Given the description of an element on the screen output the (x, y) to click on. 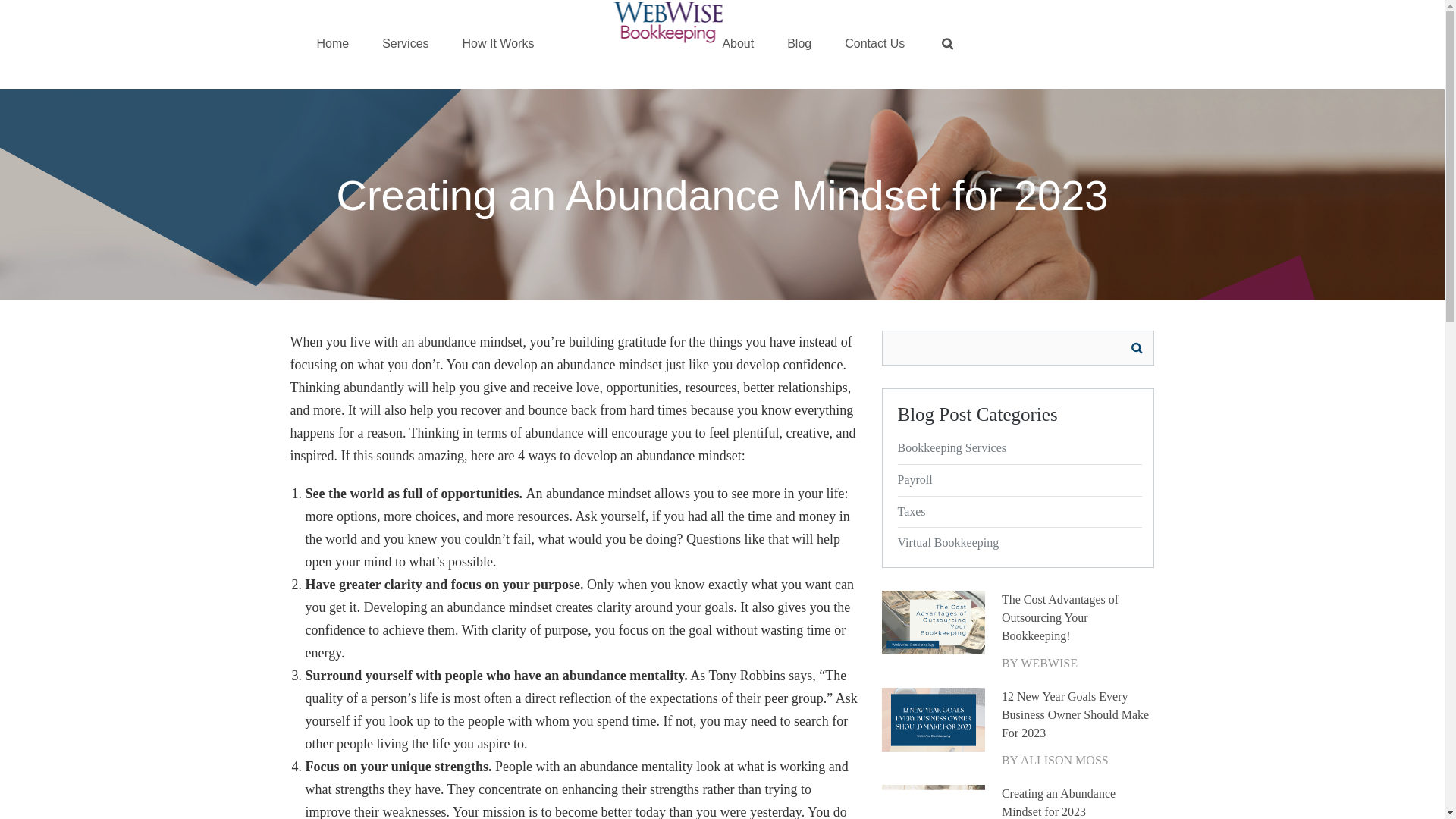
Search (1136, 347)
Payroll (1018, 480)
Virtual Bookkeeping (1018, 542)
Contact Us (874, 44)
About (738, 44)
The Cost Advantages of Outsourcing Your Bookkeeping! (1077, 617)
Search (1136, 347)
Services (404, 44)
Home (333, 44)
Search (18, 10)
Creating an Abundance Mindset for 2023 (1077, 801)
Taxes (1018, 511)
How It Works (498, 44)
Bookkeeping Services (1018, 448)
12 New Year Goals Every Business Owner Should Make For 2023 (1077, 714)
